Given the description of an element on the screen output the (x, y) to click on. 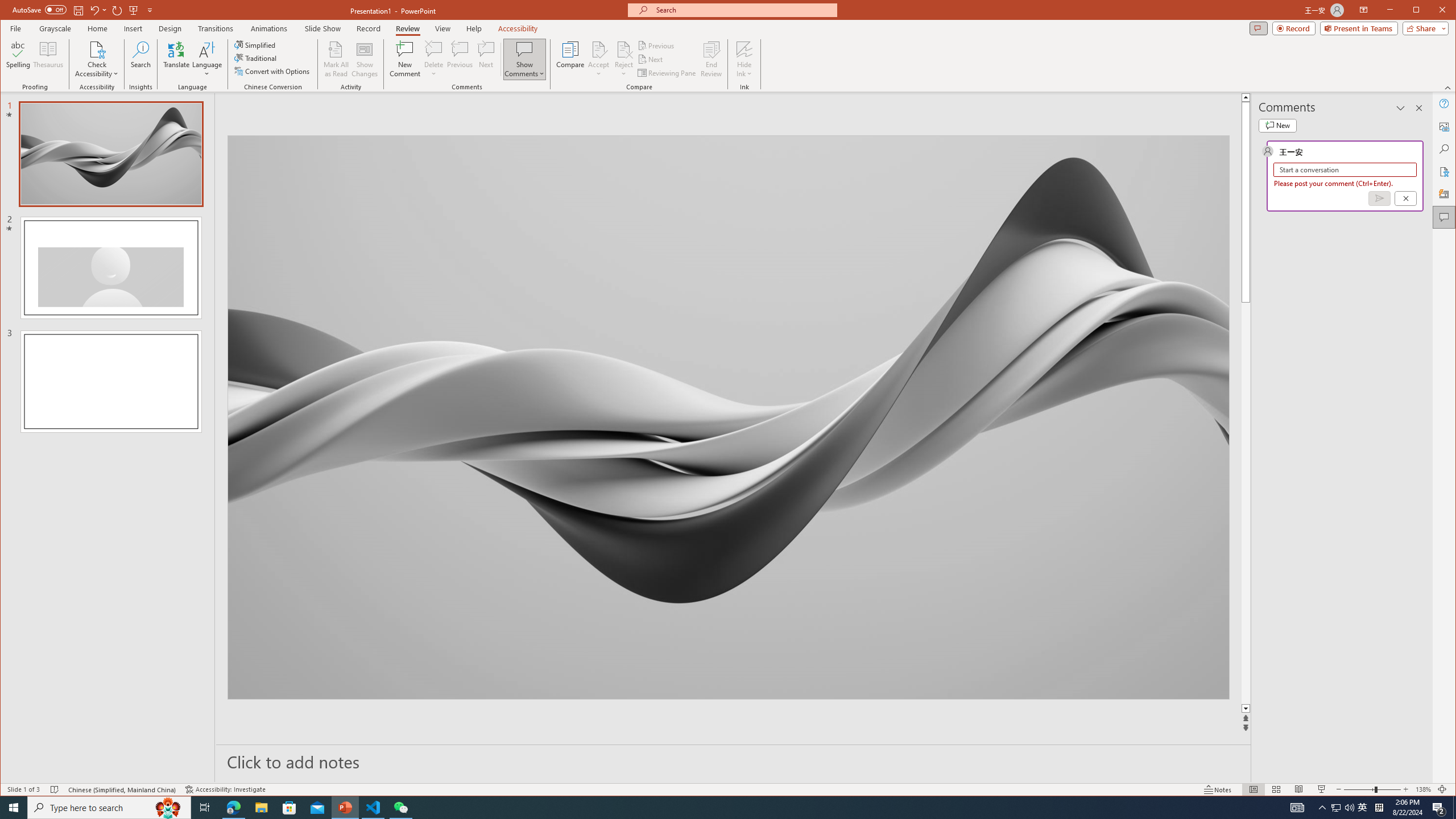
Language (207, 59)
Zoom 138% (1422, 789)
